Given the description of an element on the screen output the (x, y) to click on. 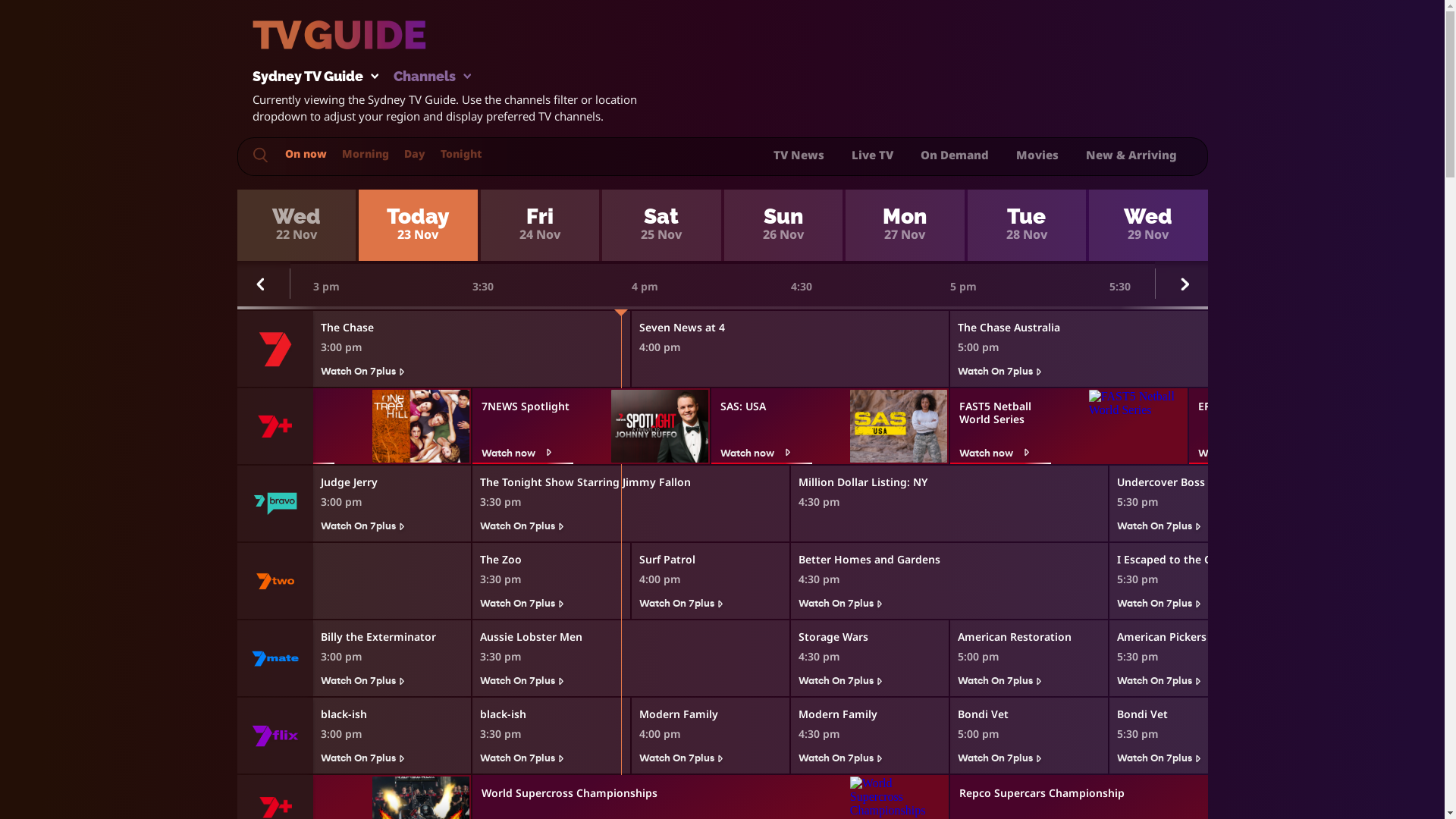
Watch now Element type: text (1002, 452)
Watch now Element type: text (764, 452)
Wed
22 Nov Element type: text (295, 224)
TV News Element type: text (798, 154)
One Tree Hill Element type: text (289, 400)
Damages Element type: text (50, 400)
On Demand Element type: text (954, 154)
World Supercross Championships Element type: text (575, 789)
Watch now Element type: text (1242, 452)
SAS: USA Element type: text (767, 400)
FAST5 Netball World Series Element type: text (1005, 407)
home Element type: hover (931, 43)
Wed
29 Nov Element type: text (1148, 224)
Mon
27 Nov Element type: text (904, 224)
ER Element type: text (1245, 400)
Watch now Element type: text (286, 452)
Watch now Element type: text (524, 452)
Movies Element type: text (1037, 154)
Sat
25 Nov Element type: text (661, 224)
Fri
24 Nov Element type: text (539, 224)
Sun
26 Nov Element type: text (782, 224)
National Drag Racing Competition Element type: text (97, 789)
7NEWS Spotlight Element type: text (527, 400)
New & Arriving Element type: text (1130, 154)
Watch now Element type: text (47, 452)
Live TV Element type: text (871, 154)
Repco Supercars Championship Element type: text (1053, 789)
Tue
28 Nov Element type: text (1026, 224)
Today
23 Nov Element type: text (417, 224)
